Given the description of an element on the screen output the (x, y) to click on. 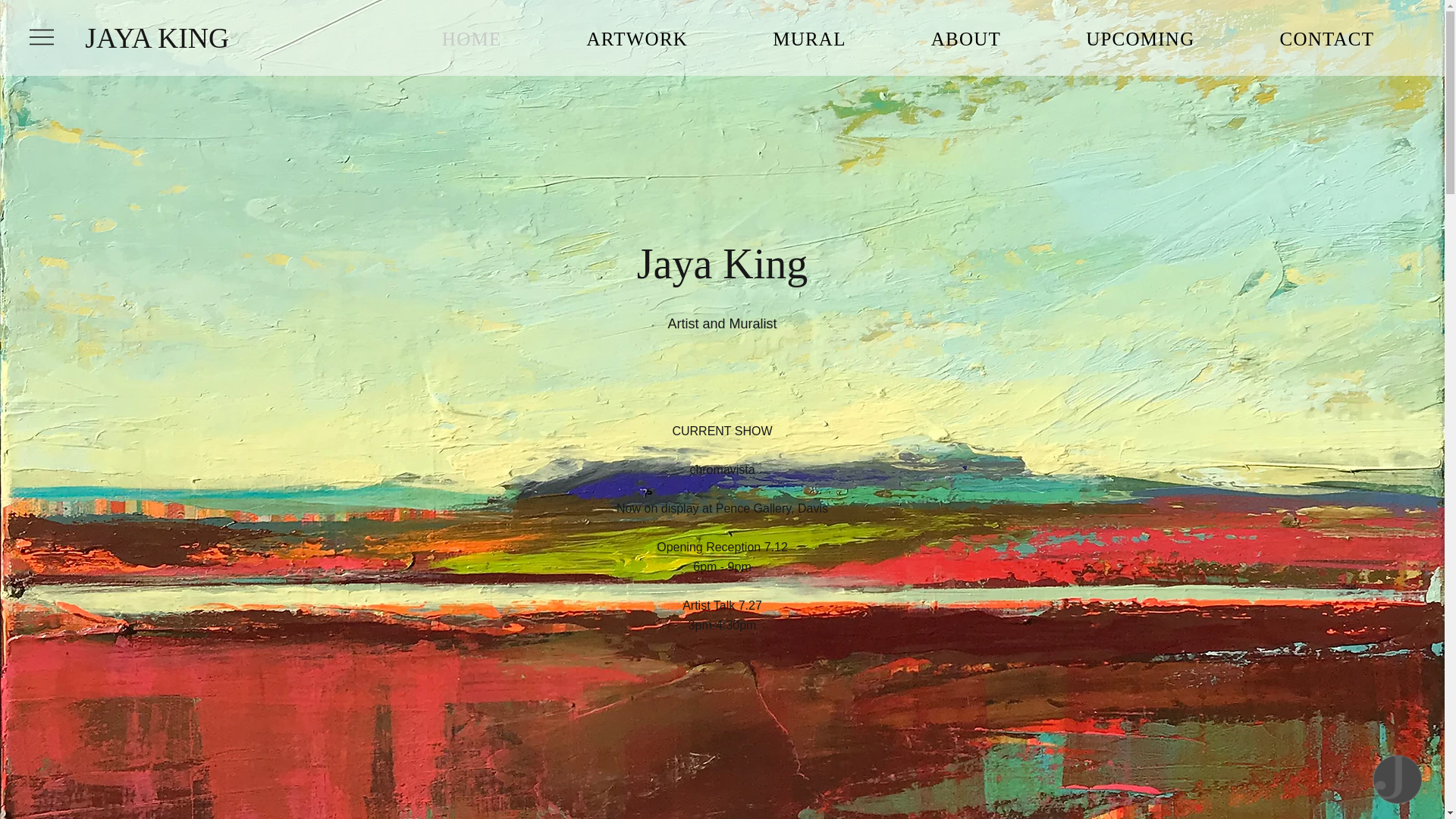
CONTACT (1326, 39)
Wix Chat (1401, 783)
ARTWORK (636, 39)
ABOUT (966, 39)
HOME (472, 39)
MURAL (809, 39)
UPCOMING (1139, 39)
